Given the description of an element on the screen output the (x, y) to click on. 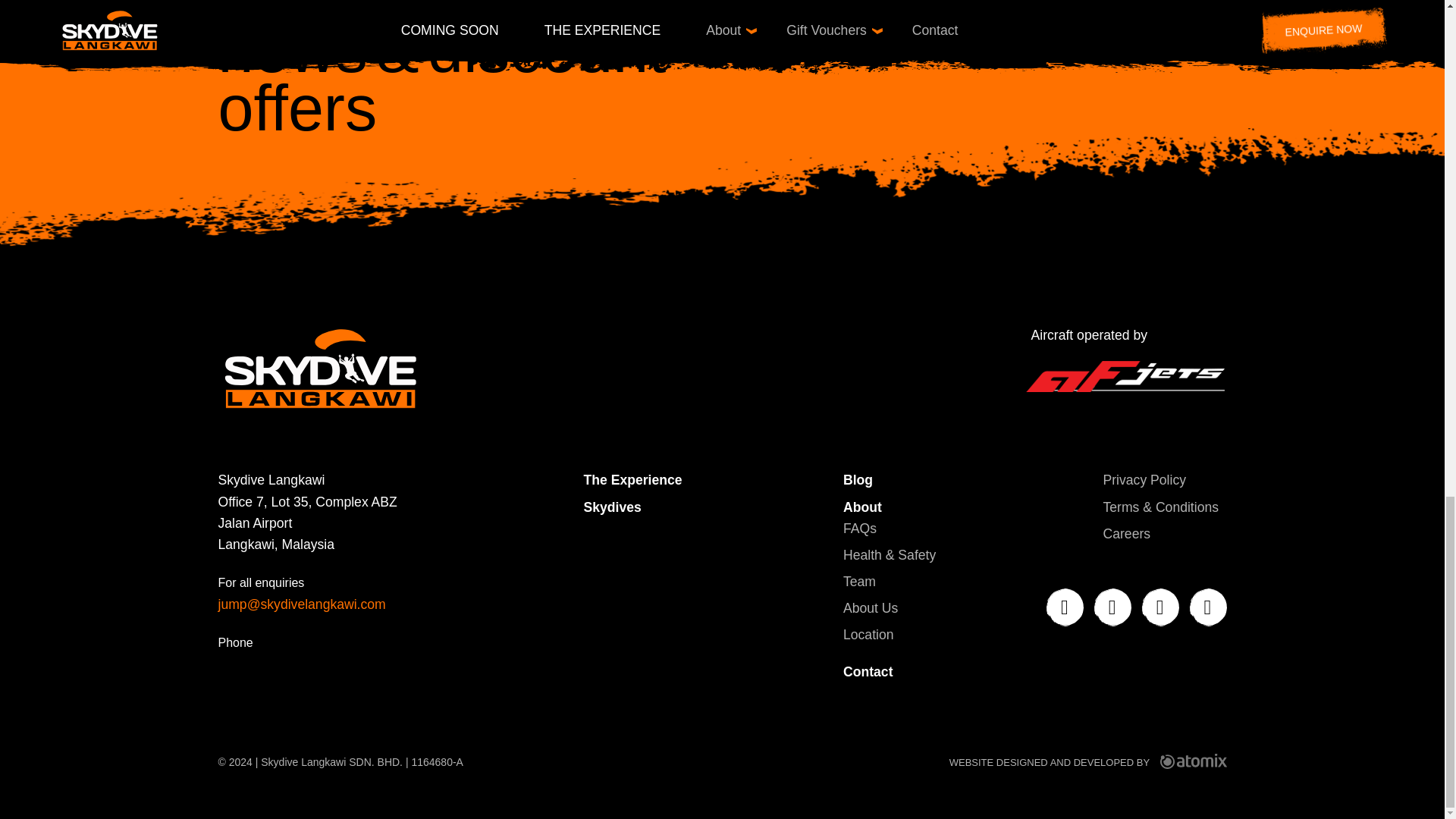
SUBSCRIBE (1134, 24)
Aircraft operated by (1125, 362)
